Given the description of an element on the screen output the (x, y) to click on. 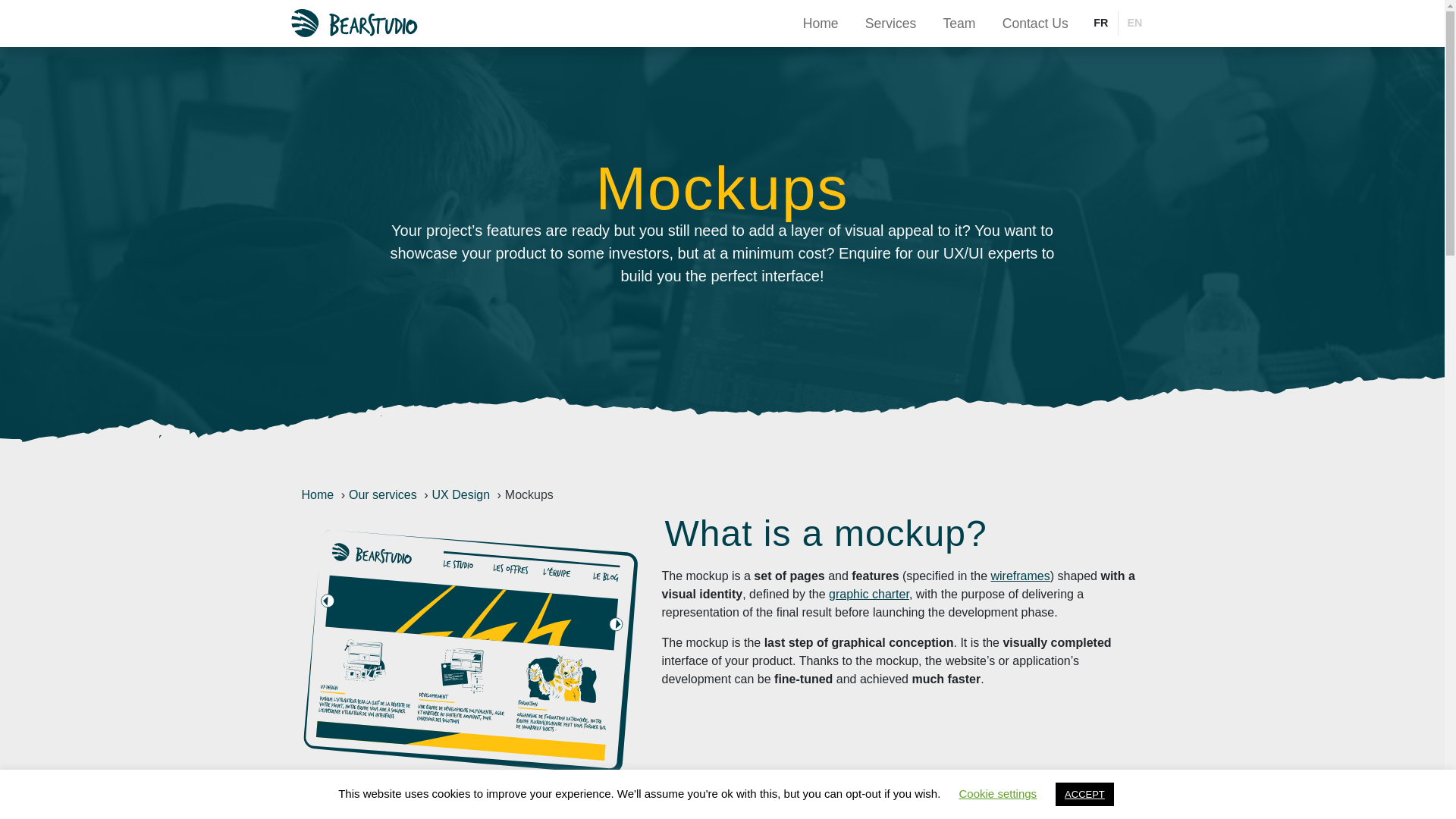
ACCEPT (1084, 793)
Our services (382, 494)
UX Design (460, 494)
Team (959, 23)
graphic charter (868, 594)
EN (1134, 23)
Services (890, 23)
Home (820, 23)
English (1134, 23)
Home (317, 494)
Contact Us (1034, 23)
Cookie settings (997, 793)
FR (1100, 23)
wireframes (1019, 575)
